Given the description of an element on the screen output the (x, y) to click on. 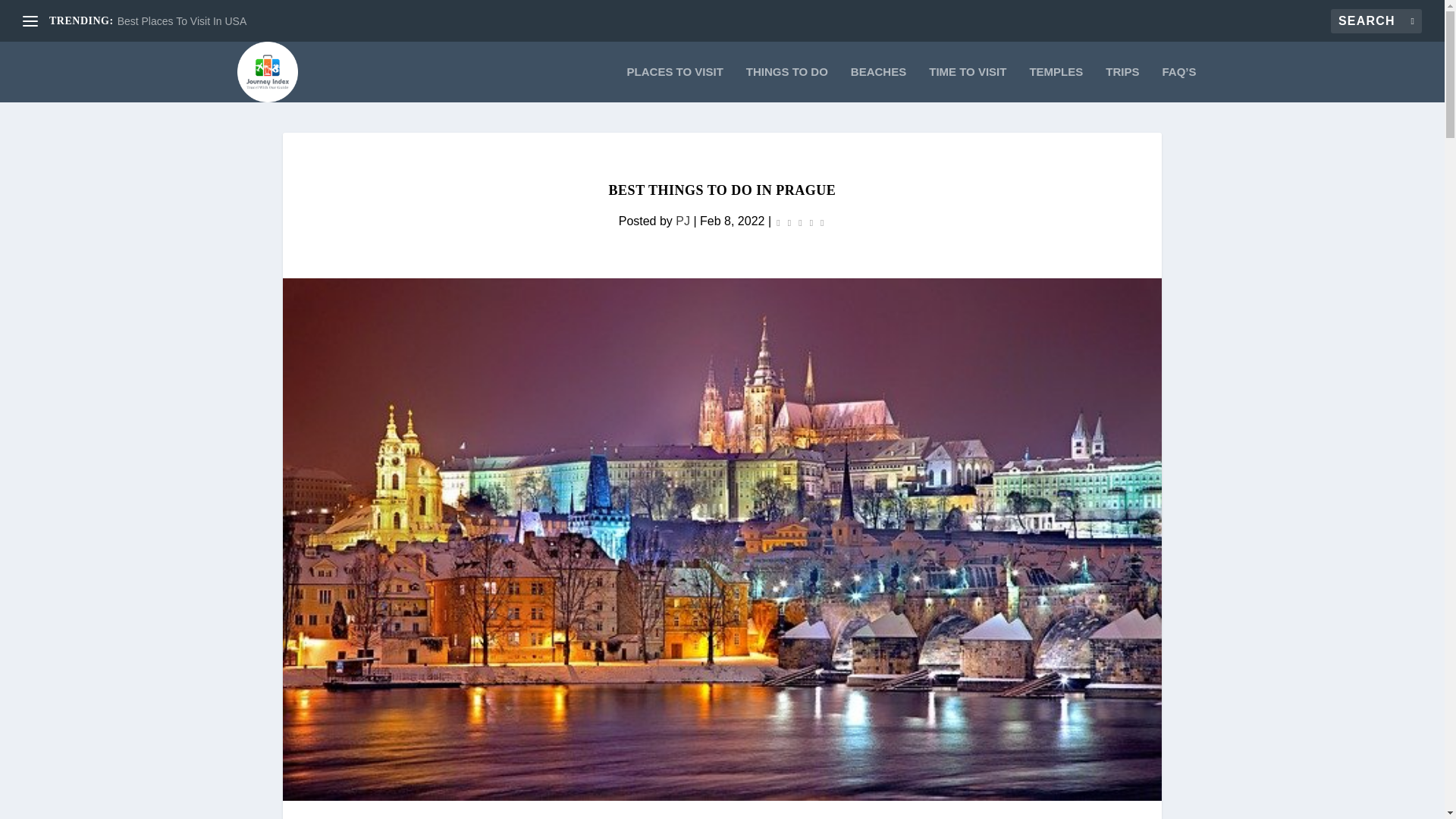
PLACES TO VISIT (675, 84)
Best Places To Visit In USA (182, 21)
TIME TO VISIT (967, 84)
TRIPS (1121, 84)
BEACHES (877, 84)
TEMPLES (1056, 84)
Posts by PJ (682, 220)
PJ (682, 220)
Rating: 0.00 (799, 221)
Search for: (1376, 21)
